Given the description of an element on the screen output the (x, y) to click on. 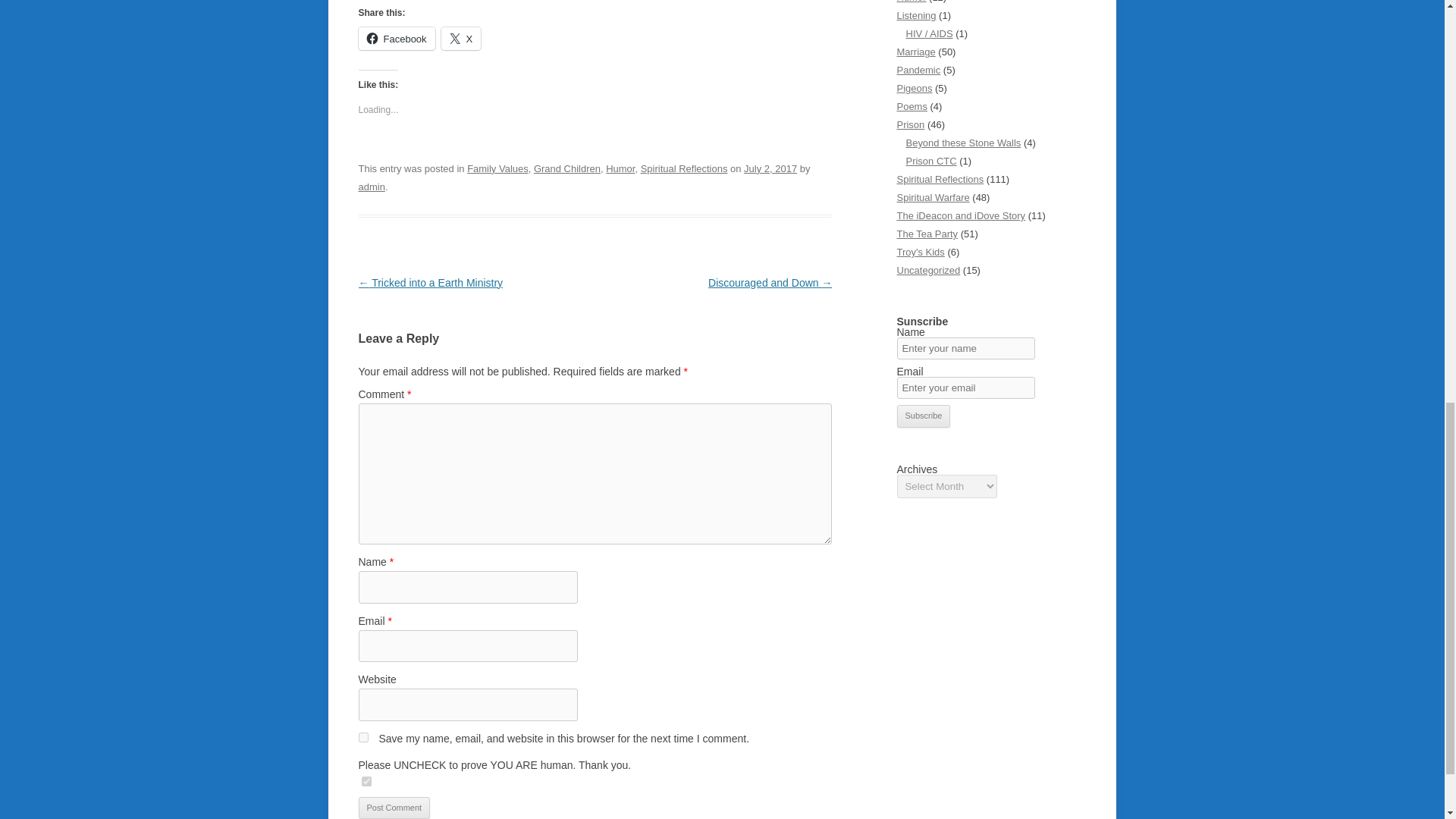
X (461, 38)
admin (371, 186)
20:03 (770, 168)
Humor (619, 168)
View all posts by admin (371, 186)
Click to share on Facebook (395, 38)
Spiritual Reflections (684, 168)
Subscribe (923, 415)
on (366, 781)
Facebook (395, 38)
yes (363, 737)
Family Values (497, 168)
Grand Children (566, 168)
July 2, 2017 (770, 168)
Click to share on X (461, 38)
